Given the description of an element on the screen output the (x, y) to click on. 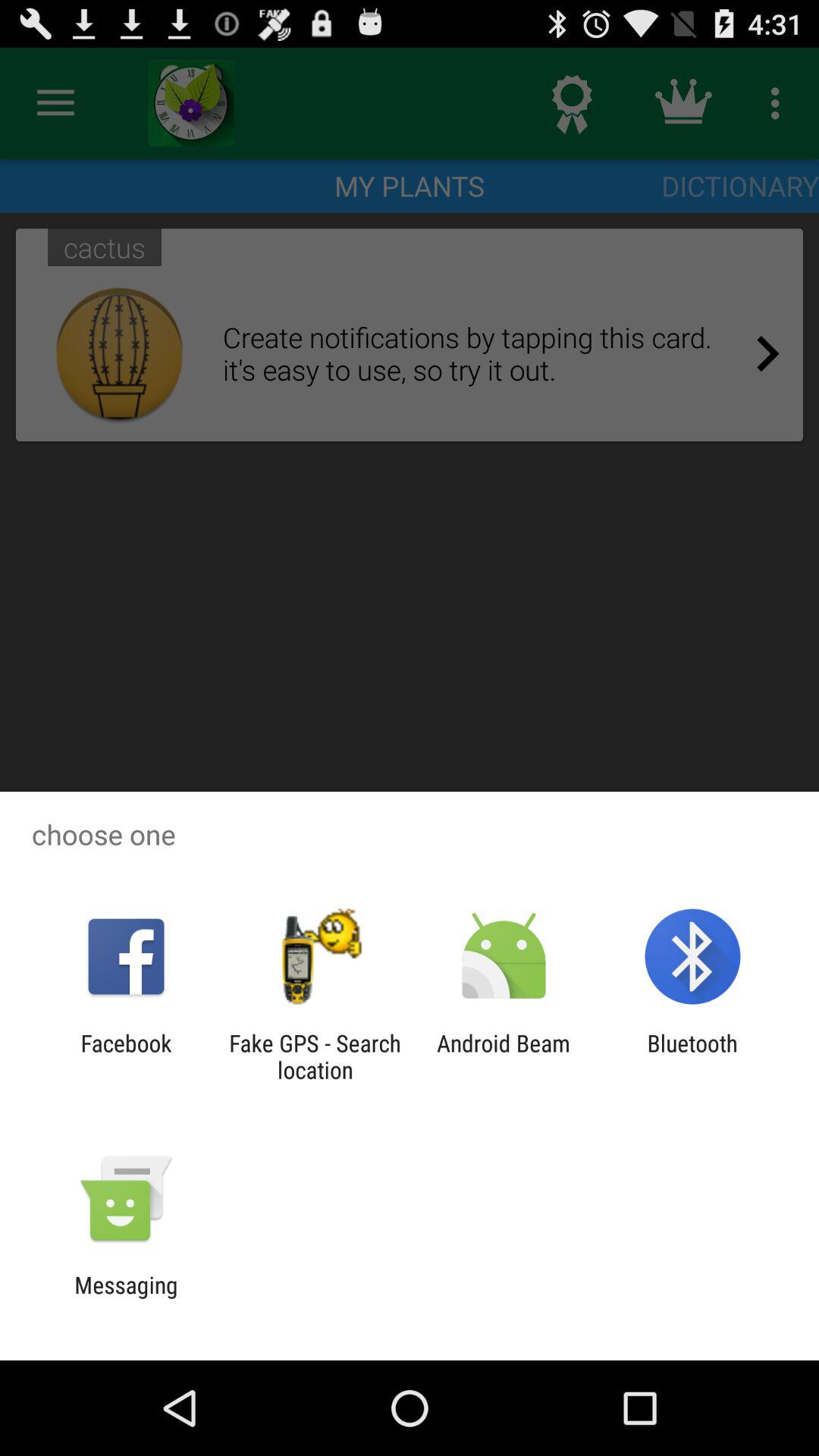
swipe to bluetooth (692, 1056)
